Given the description of an element on the screen output the (x, y) to click on. 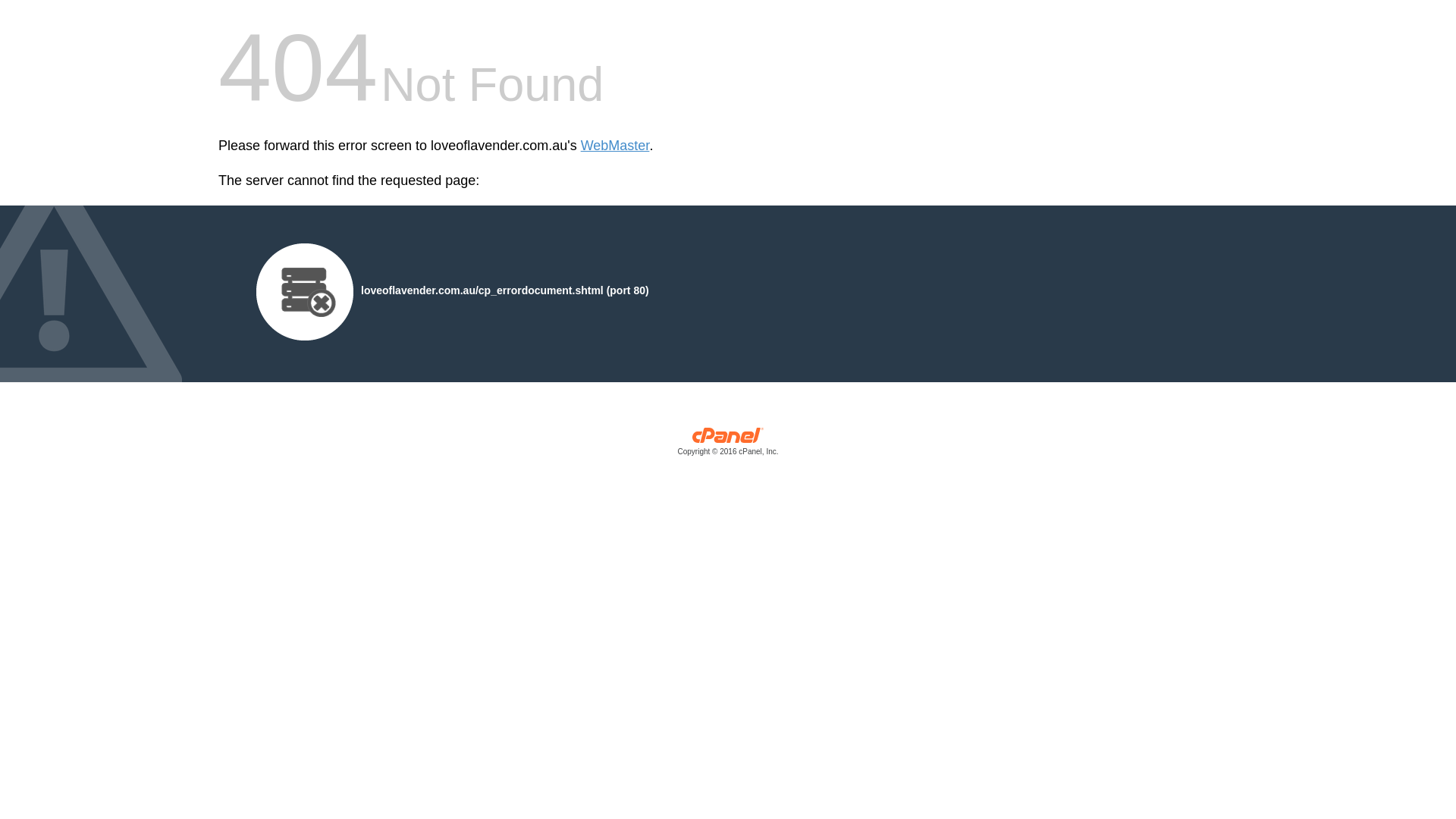
WebMaster Element type: text (614, 145)
